Given the description of an element on the screen output the (x, y) to click on. 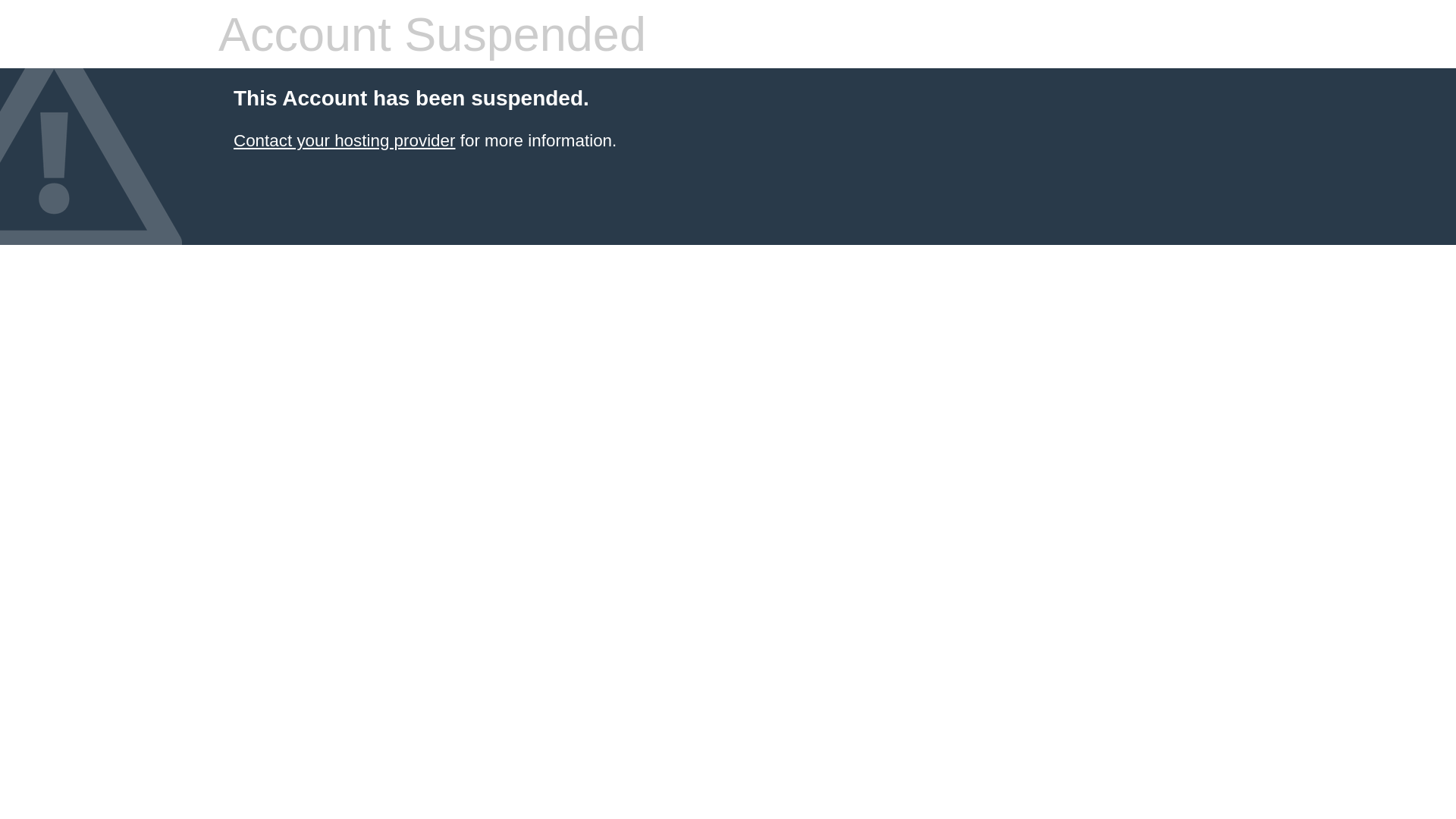
Contact your hosting provider Element type: text (344, 140)
